Given the description of an element on the screen output the (x, y) to click on. 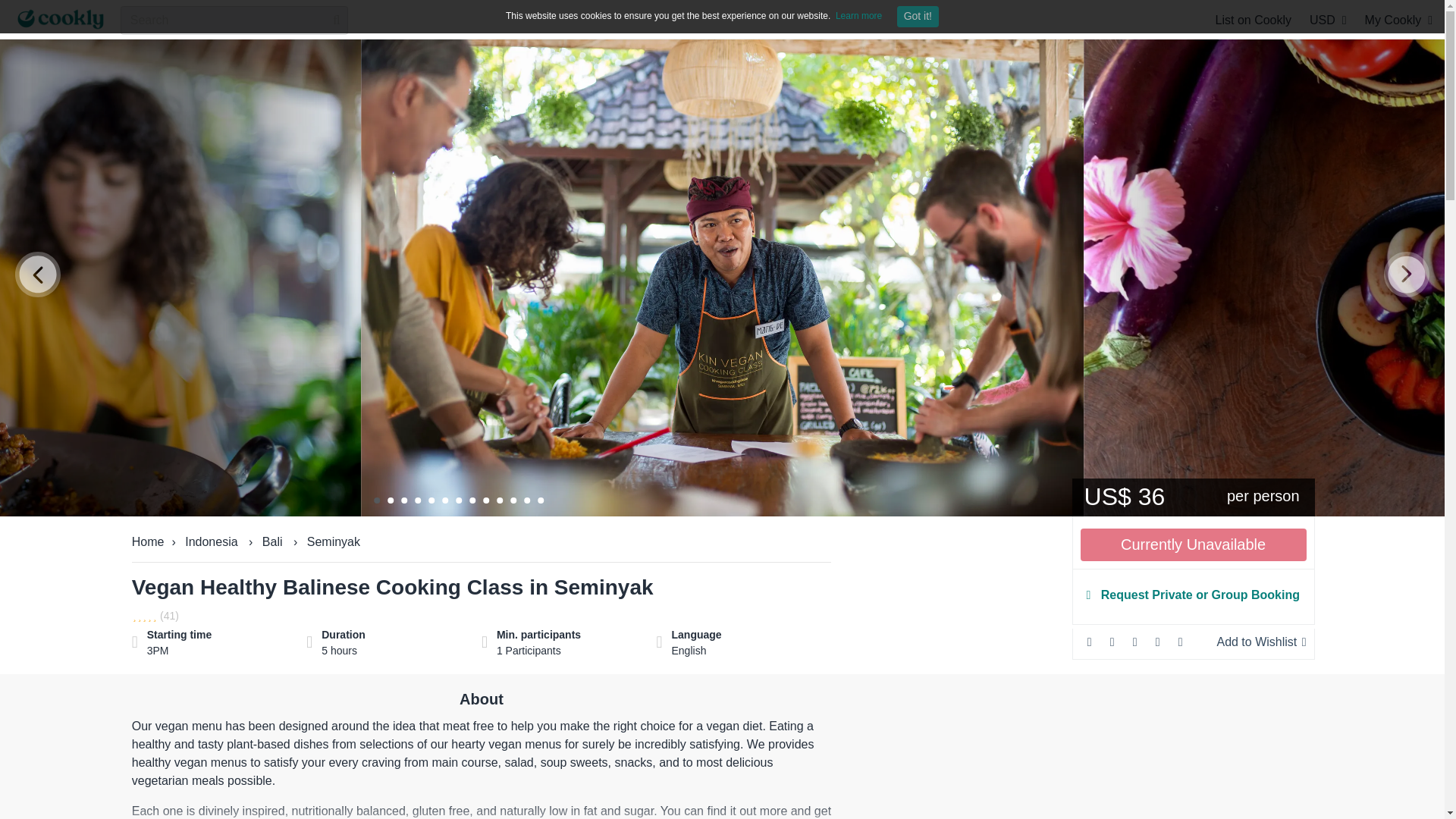
4 (417, 500)
9 (486, 500)
1 (377, 500)
7 (458, 500)
13 (540, 500)
Opens a widget where you can find more information (1374, 792)
5 (430, 500)
6 (445, 500)
12 (526, 500)
List on Cookly (1253, 20)
11 (513, 500)
10 (499, 500)
3 (404, 500)
2 (390, 500)
USD   (1327, 20)
